Given the description of an element on the screen output the (x, y) to click on. 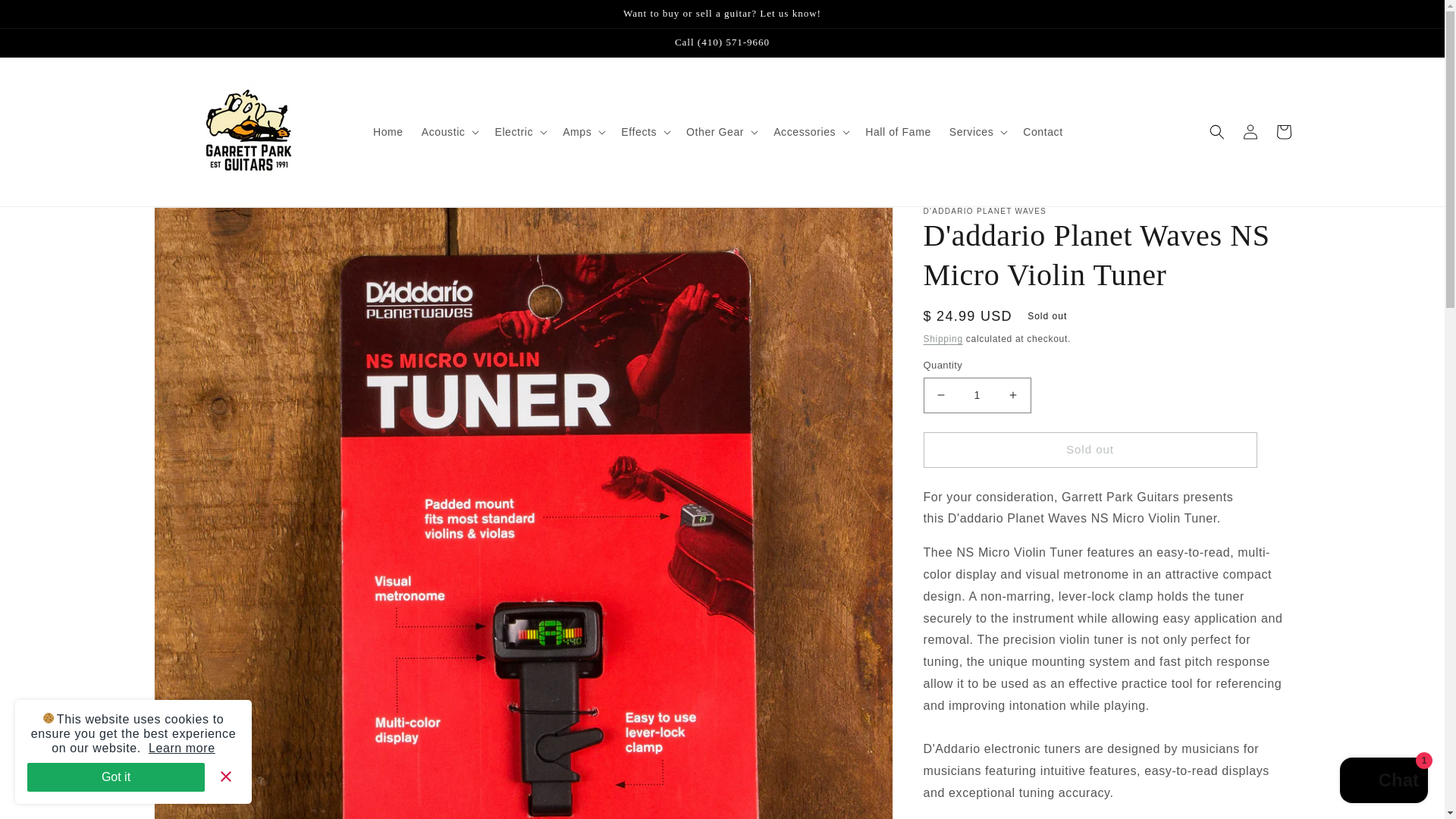
Skip to content (45, 17)
1 (976, 395)
Shopify online store chat (1383, 781)
